Given the description of an element on the screen output the (x, y) to click on. 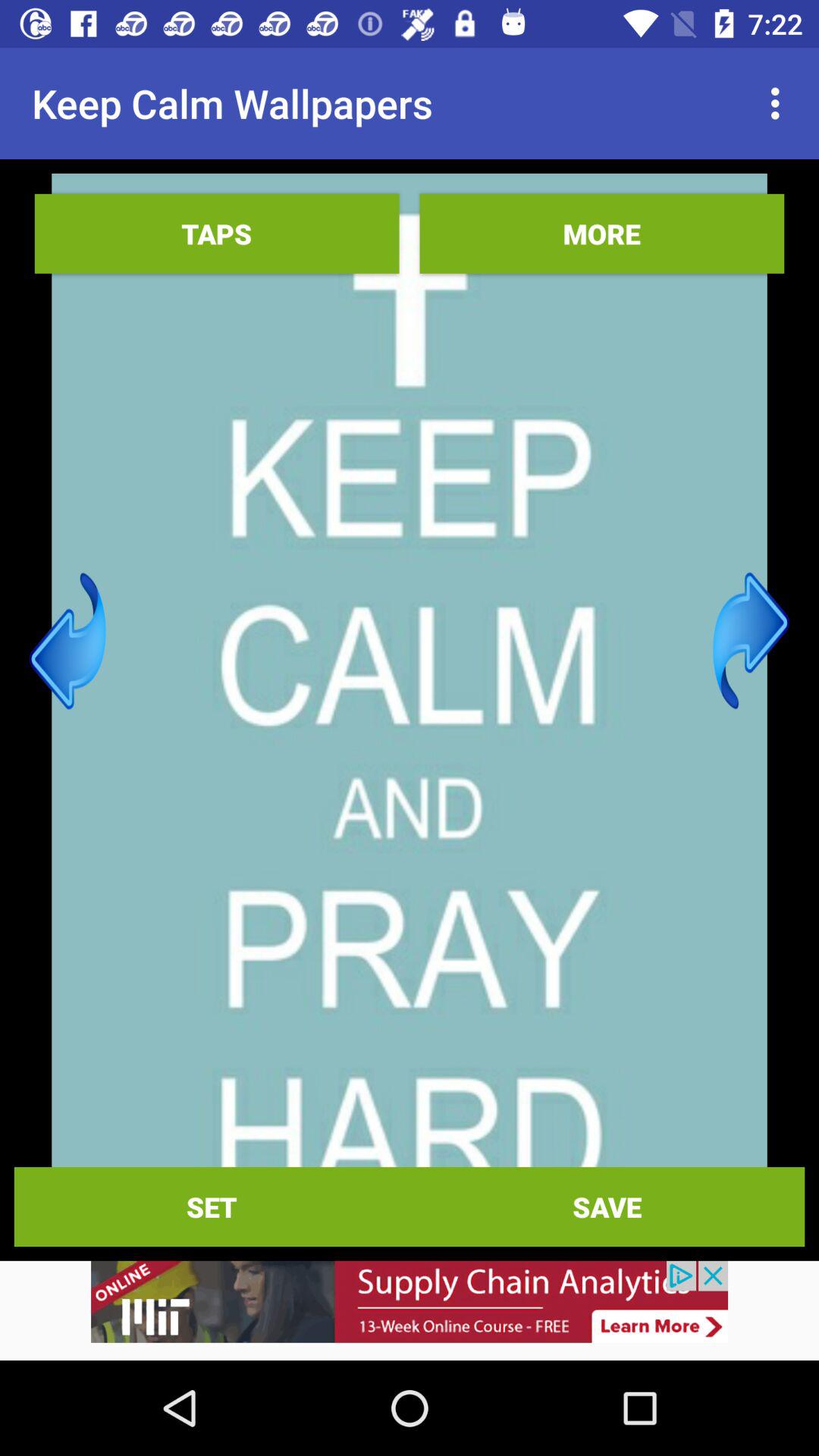
go to advertisement (409, 1310)
